Given the description of an element on the screen output the (x, y) to click on. 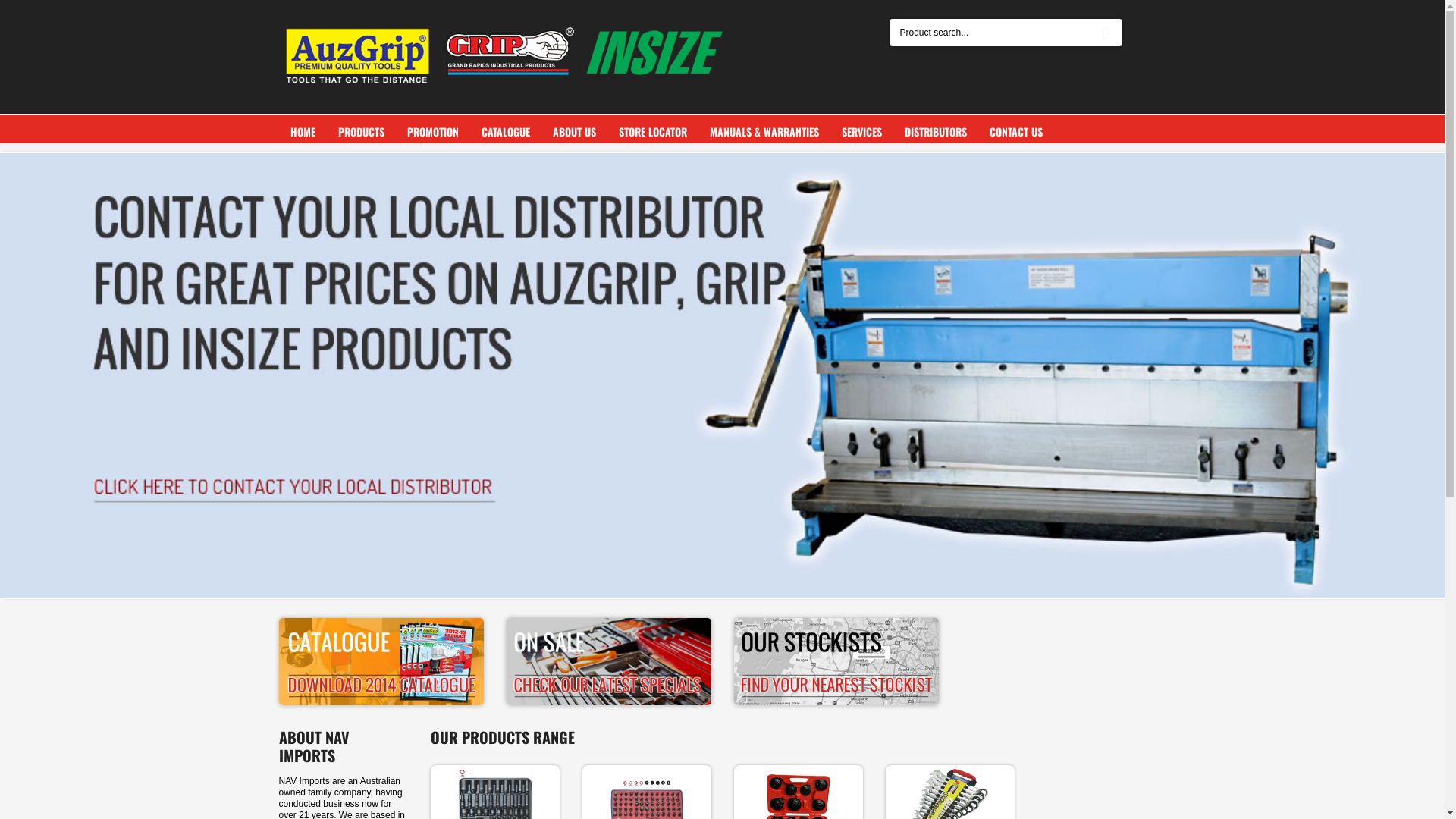
STORE LOCATOR Element type: text (651, 131)
CATALOGUE Element type: text (505, 131)
SERVICES Element type: text (860, 131)
ABOUT US Element type: text (574, 131)
PRODUCTS Element type: text (360, 131)
Nav Imports Australia Element type: hover (506, 53)
DISTRIBUTORS Element type: text (935, 131)
banner3 Element type: hover (836, 661)
banner2 Element type: hover (608, 661)
PROMOTION Element type: text (432, 131)
slide3 Element type: hover (722, 375)
CONTACT US Element type: text (1016, 131)
MANUALS & WARRANTIES Element type: text (763, 131)
banner1 Element type: hover (381, 661)
HOME Element type: text (302, 131)
